Given the description of an element on the screen output the (x, y) to click on. 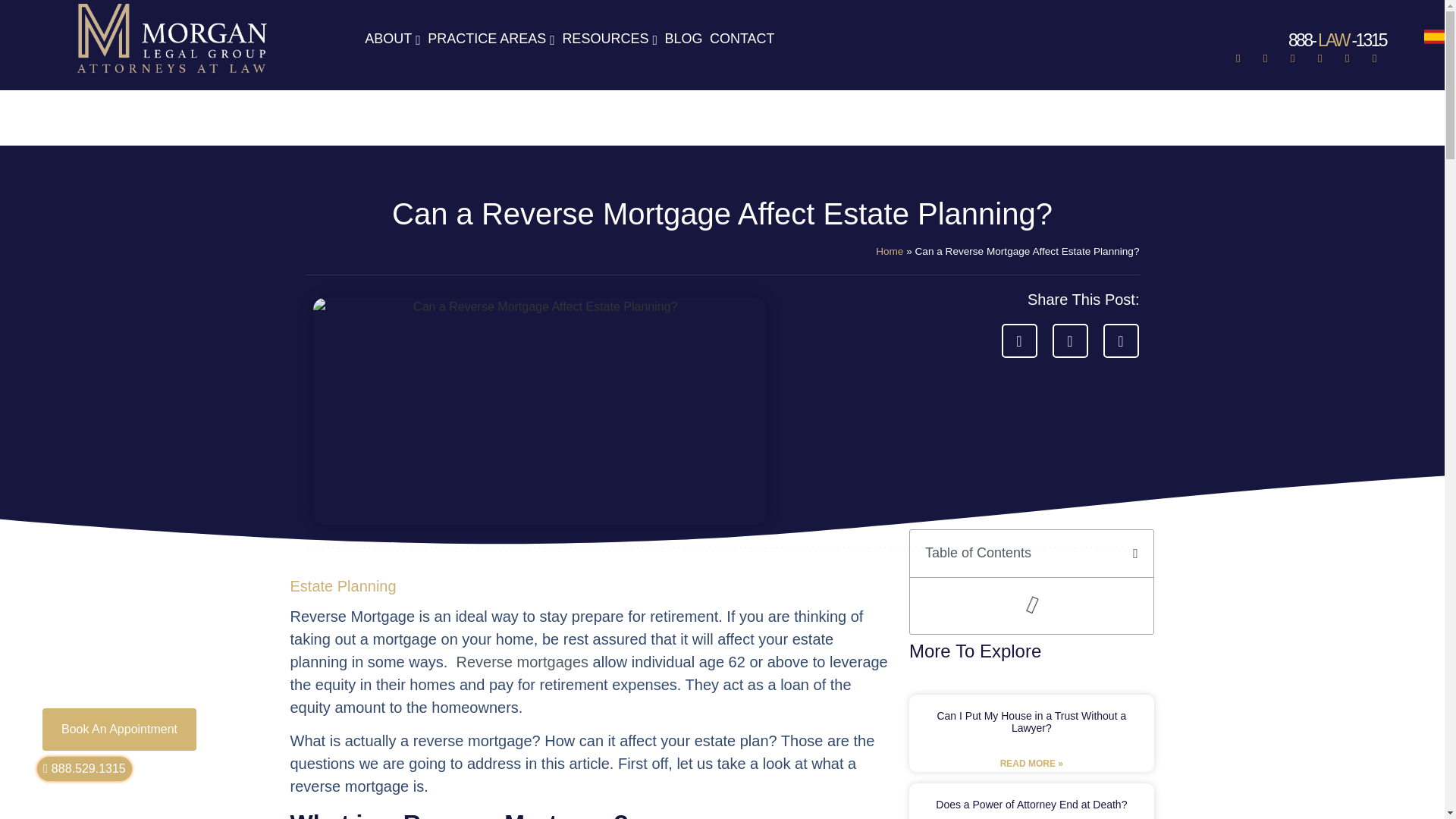
CONTACT (740, 38)
Resources (607, 38)
BLOG (681, 38)
ABOUT (390, 38)
PRACTICE AREAS (488, 38)
ABOUT (390, 38)
Practice Areas (488, 38)
